Given the description of an element on the screen output the (x, y) to click on. 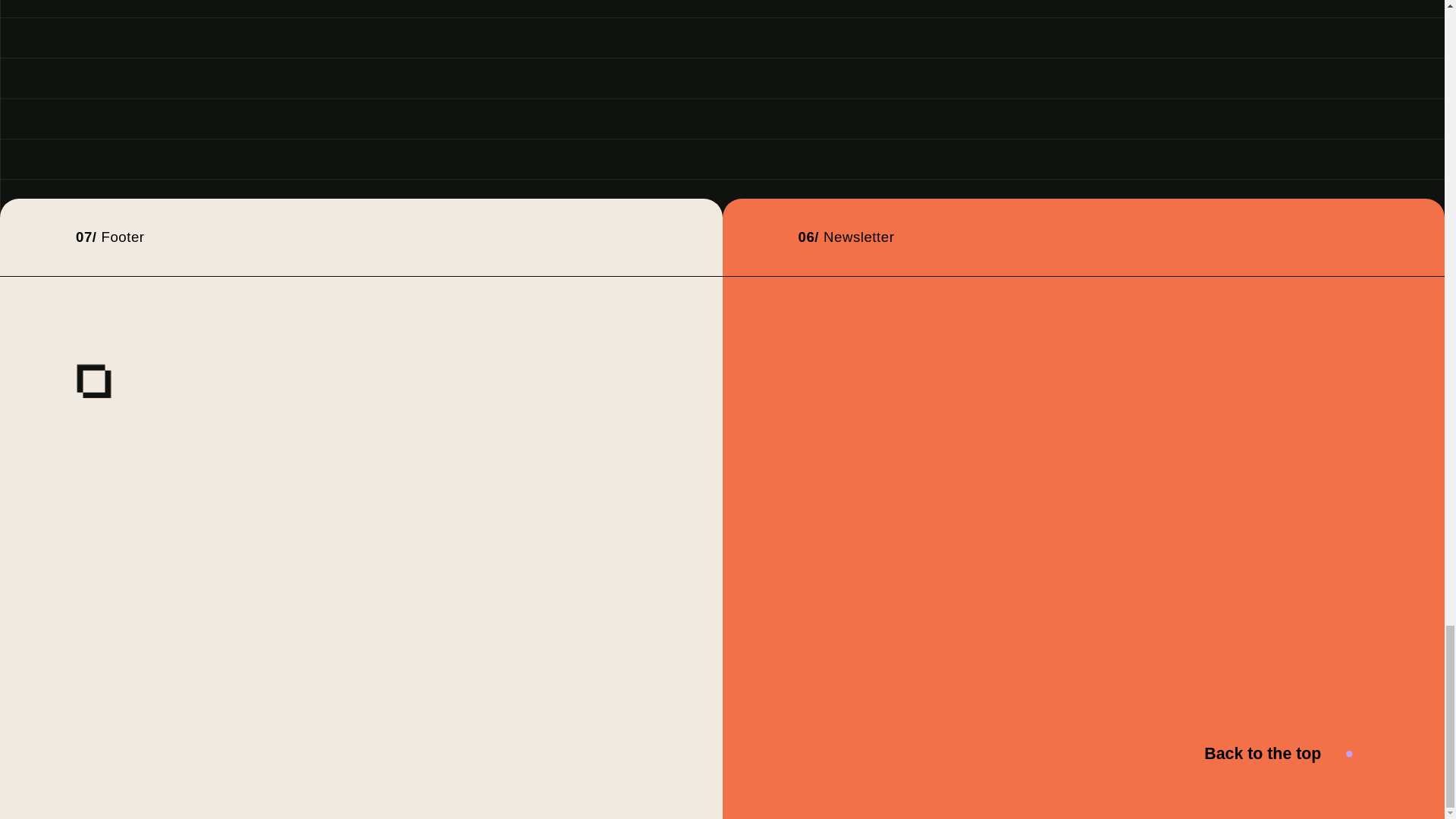
Back to the top (1267, 754)
Back to the top (1286, 753)
Back to the top (1286, 753)
